Given the description of an element on the screen output the (x, y) to click on. 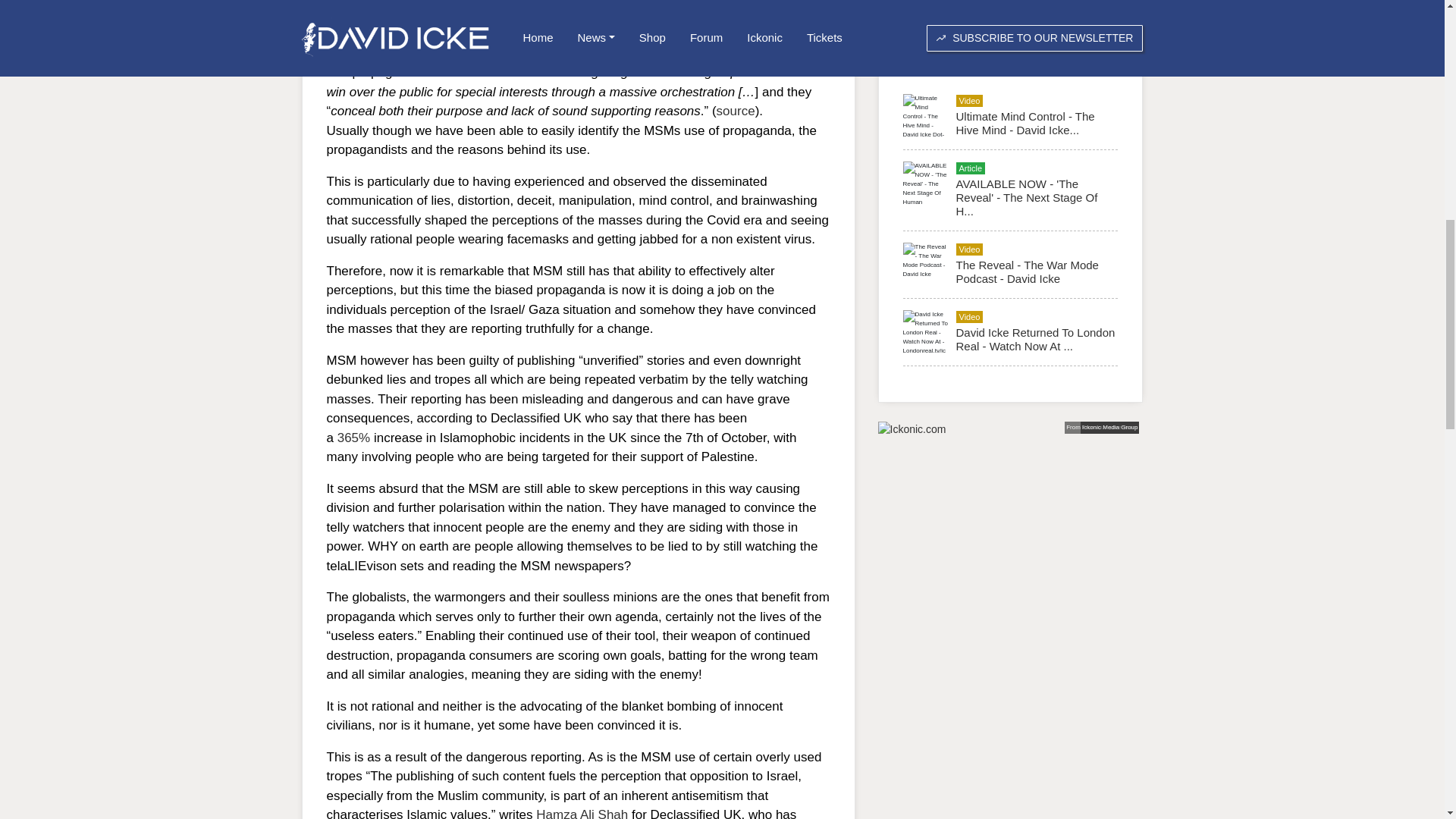
The Reveal - The War Mode Podcast - David Icke (1026, 271)
source (735, 110)
Hamza Ali Shah (581, 813)
identified as (532, 72)
